Given the description of an element on the screen output the (x, y) to click on. 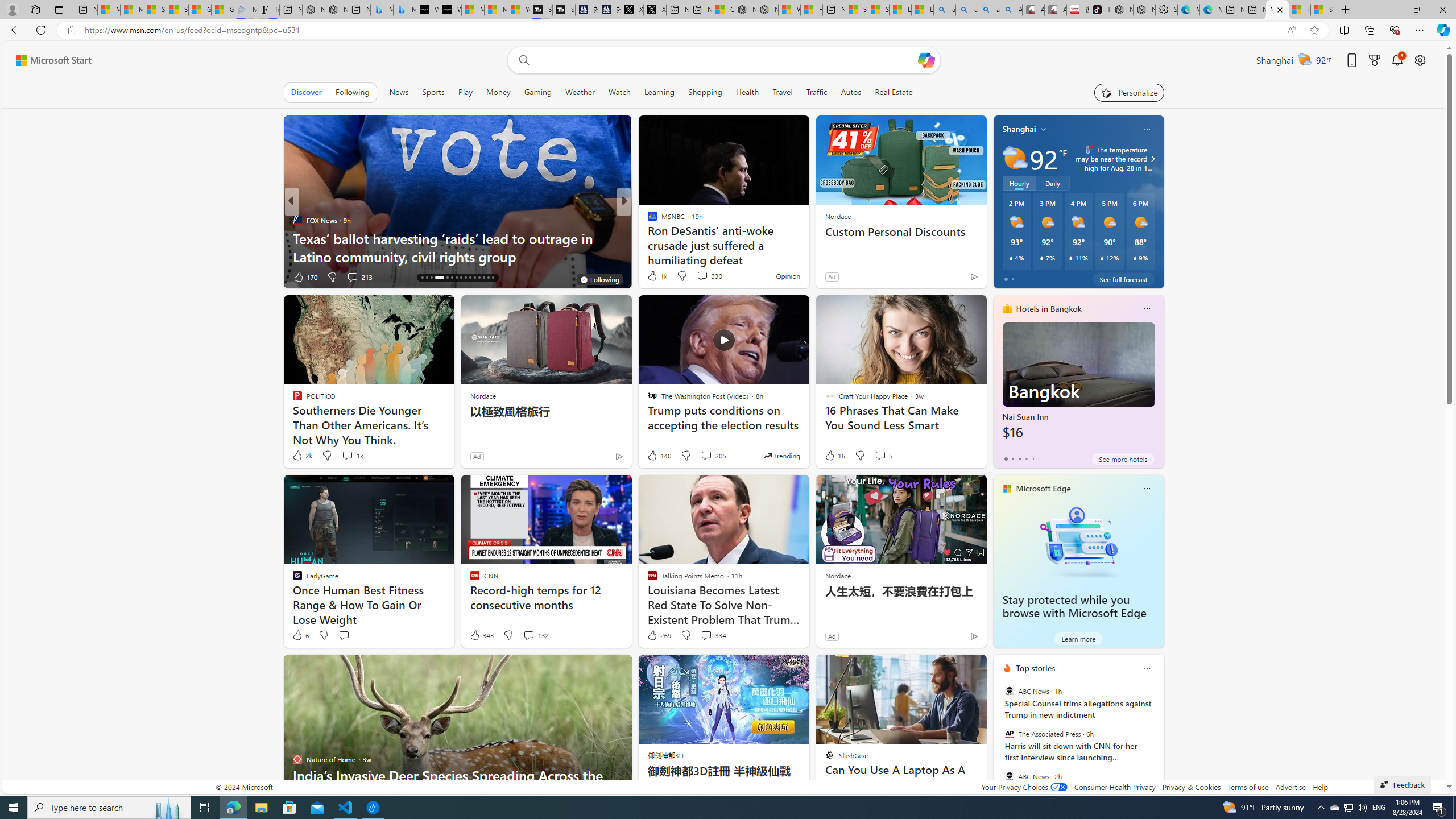
170 Like (304, 276)
AutomationID: tab-23 (460, 277)
ABC News (1008, 775)
Microsoft Bing Travel - Stays in Bangkok, Bangkok, Thailand (381, 9)
Skip to content (49, 59)
Shopping (705, 92)
16 Like (834, 455)
View comments 55 Comment (698, 276)
You're following FOX News (599, 279)
